Given the description of an element on the screen output the (x, y) to click on. 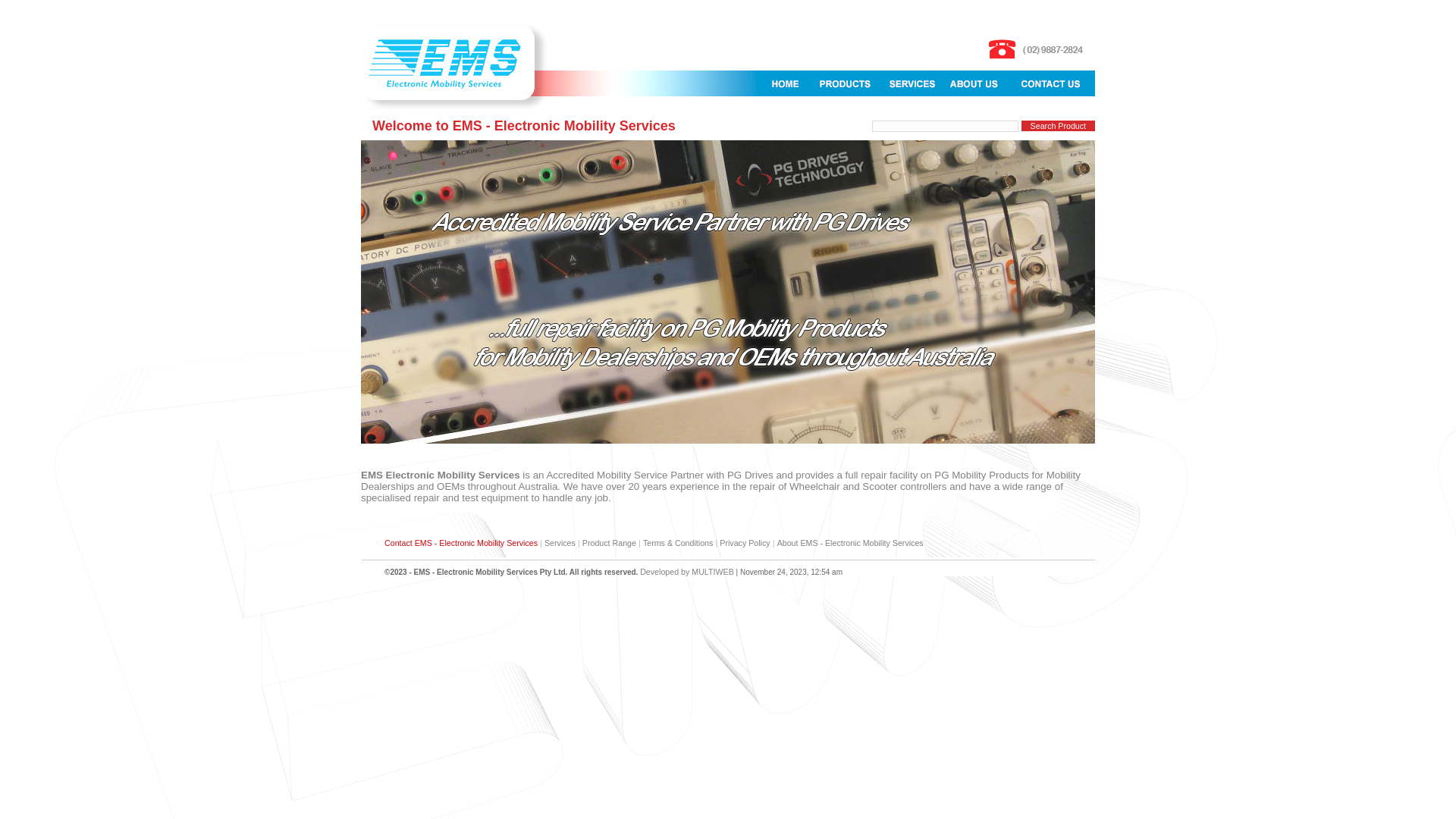
Developed by MULTIWEB Element type: text (687, 571)
Services Element type: text (559, 542)
About EMS - Electronic Mobility Services Element type: text (850, 542)
Terms & Conditions Element type: text (677, 542)
  Search Product   Element type: text (1058, 125)
Product Range Element type: text (609, 542)
Privacy Policy Element type: text (744, 542)
Click to Search Element type: hover (1058, 125)
Contact EMS - Electronic Mobility Services Element type: text (460, 542)
